Given the description of an element on the screen output the (x, y) to click on. 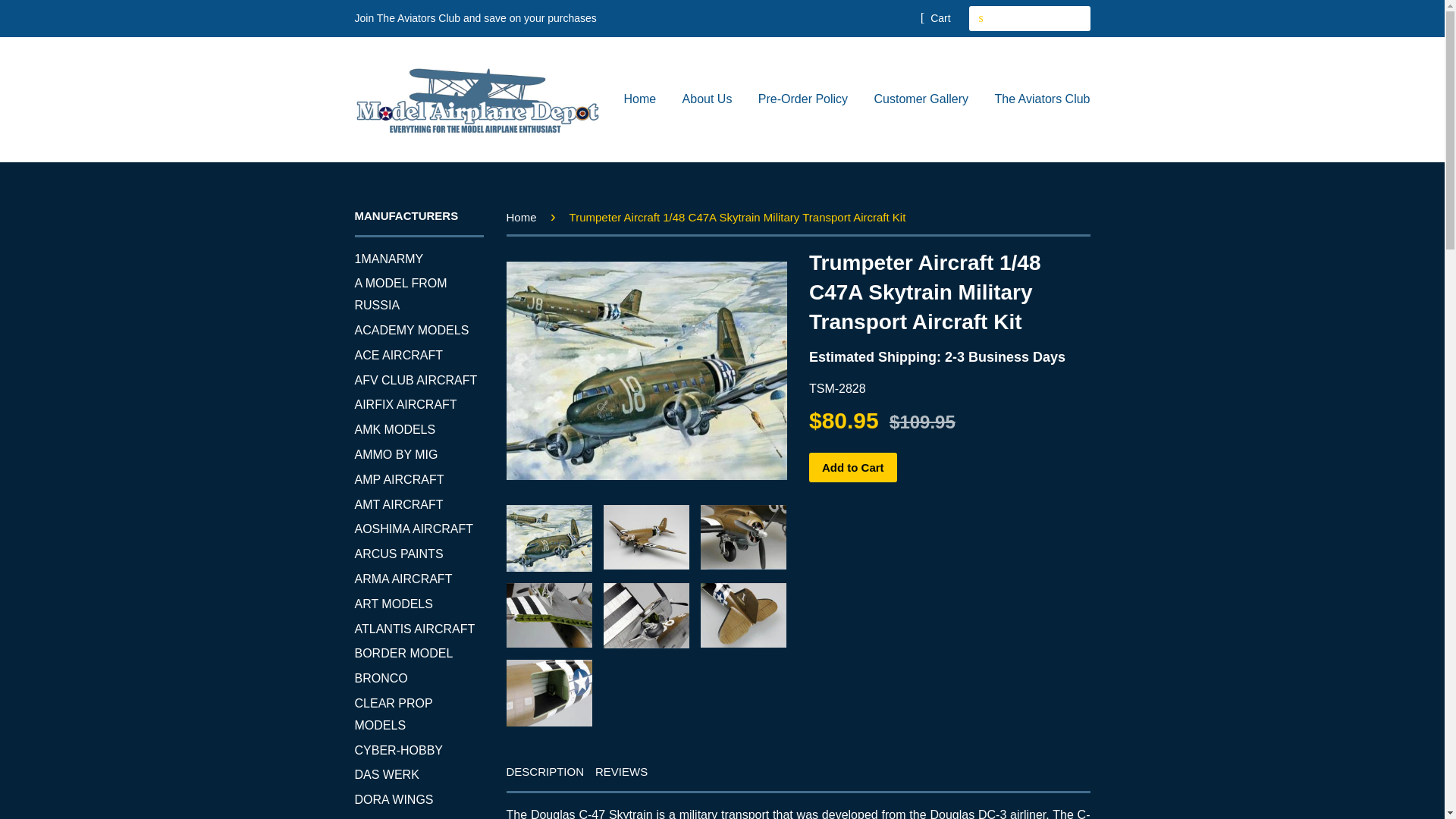
Back to the frontpage (523, 216)
Cart (935, 17)
Search (980, 18)
